Given the description of an element on the screen output the (x, y) to click on. 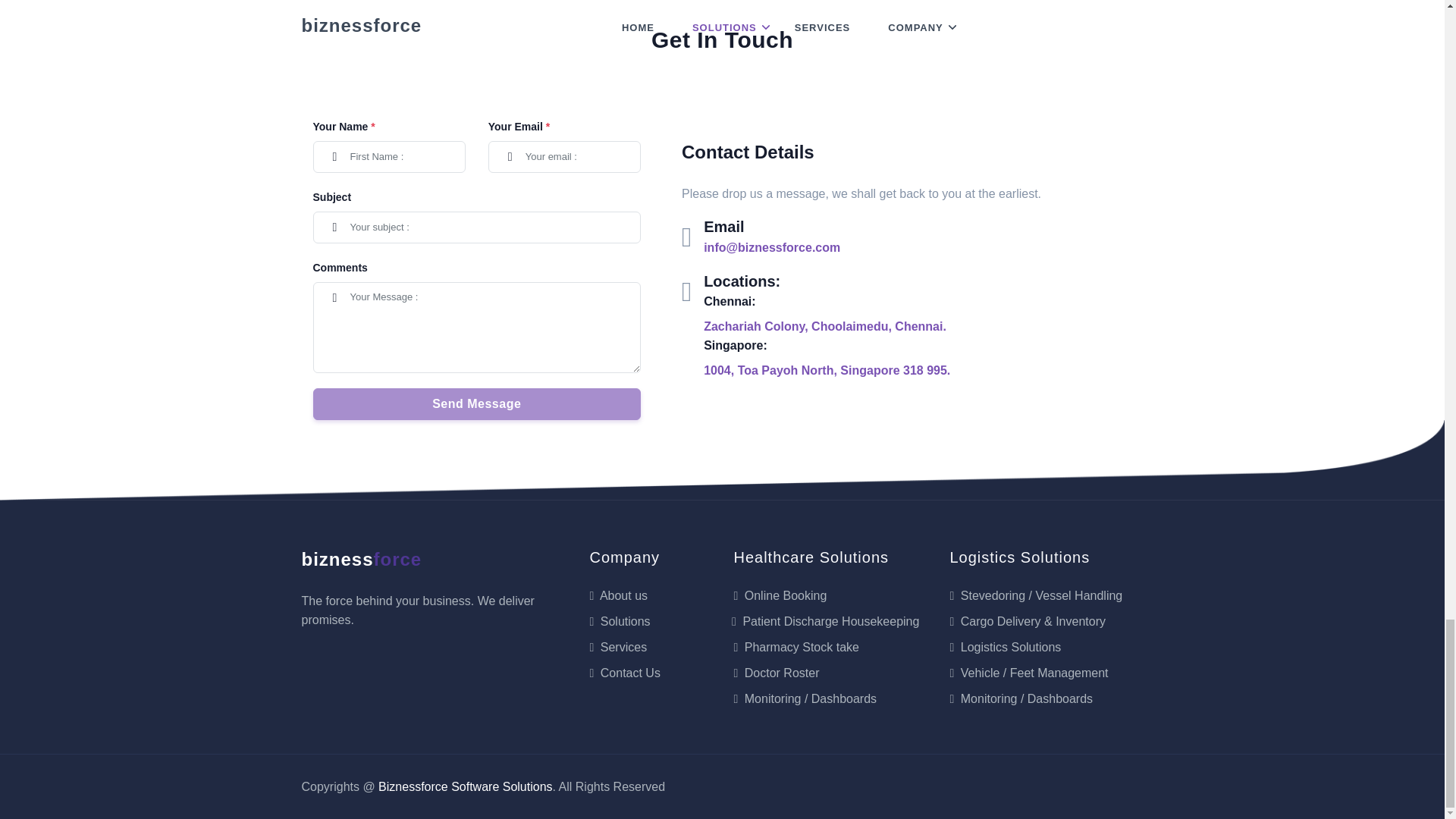
Solutions (619, 621)
biznessforce (361, 559)
Logistics Solutions (1005, 646)
Send Message (476, 404)
Zachariah Colony, Choolaimedu, Chennai. (824, 326)
Contact Us (624, 672)
Patient Discharge Housekeeping (825, 621)
Doctor Roster (775, 672)
Pharmacy Stock take (796, 646)
Online Booking (780, 594)
